Given the description of an element on the screen output the (x, y) to click on. 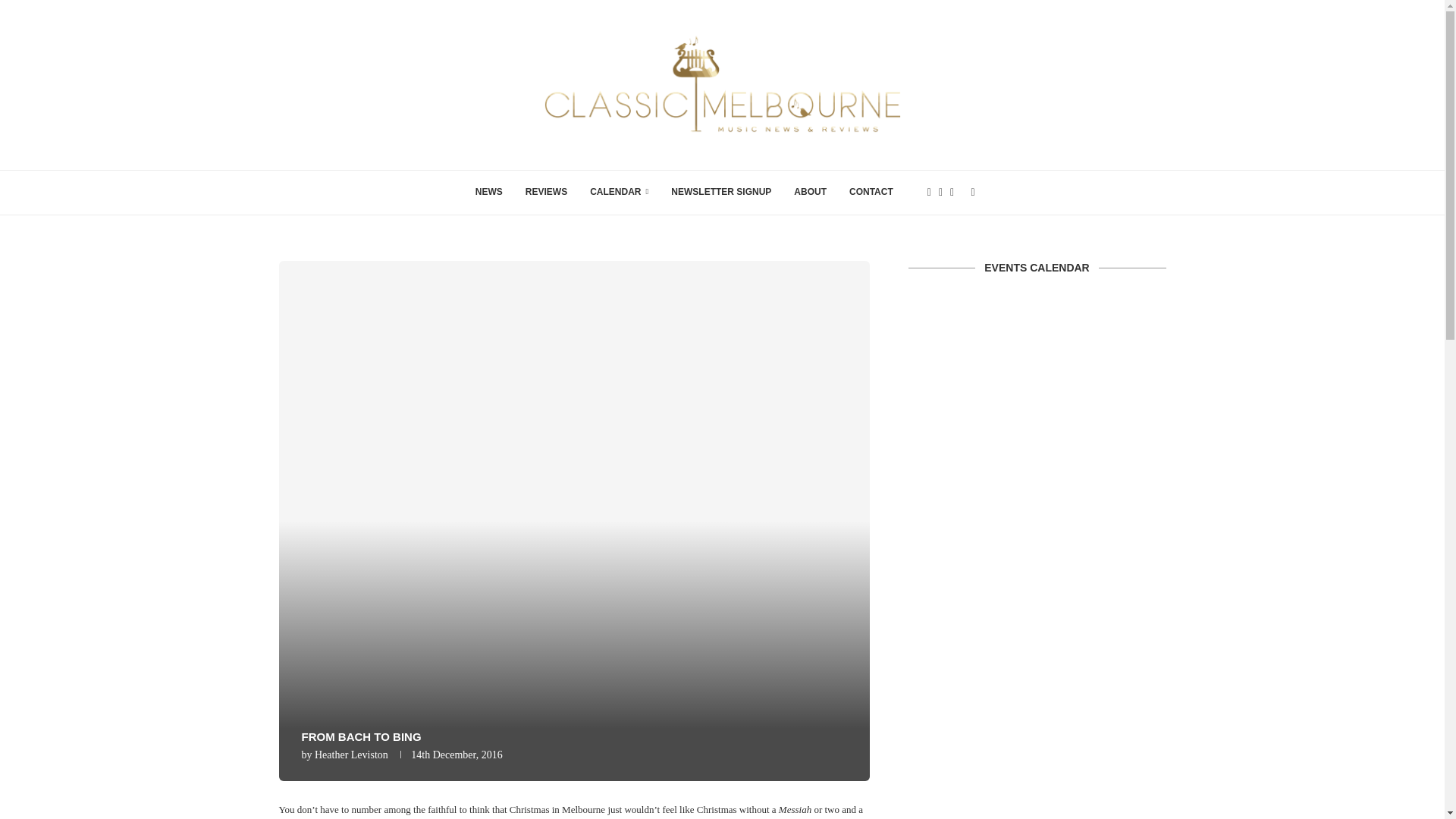
CONTACT (871, 192)
ABOUT (810, 192)
CALENDAR (618, 192)
REVIEWS (545, 192)
Newsletter Signup (721, 192)
NEWSLETTER SIGNUP (721, 192)
Heather Leviston (351, 754)
NEWS (488, 192)
